Given the description of an element on the screen output the (x, y) to click on. 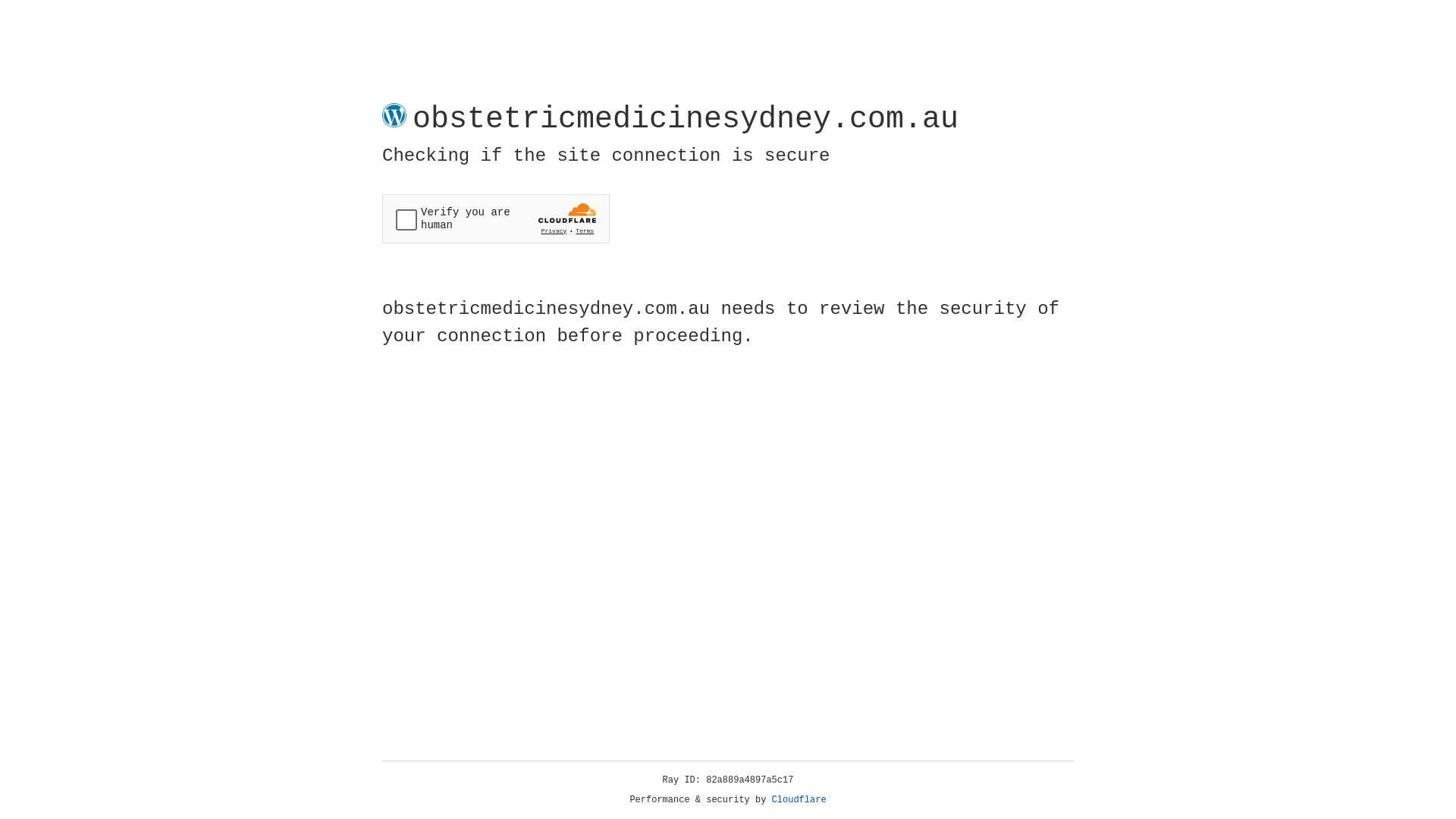
Cloudflare Element type: text (798, 799)
Widget containing a Cloudflare security challenge Element type: hover (495, 218)
